Given the description of an element on the screen output the (x, y) to click on. 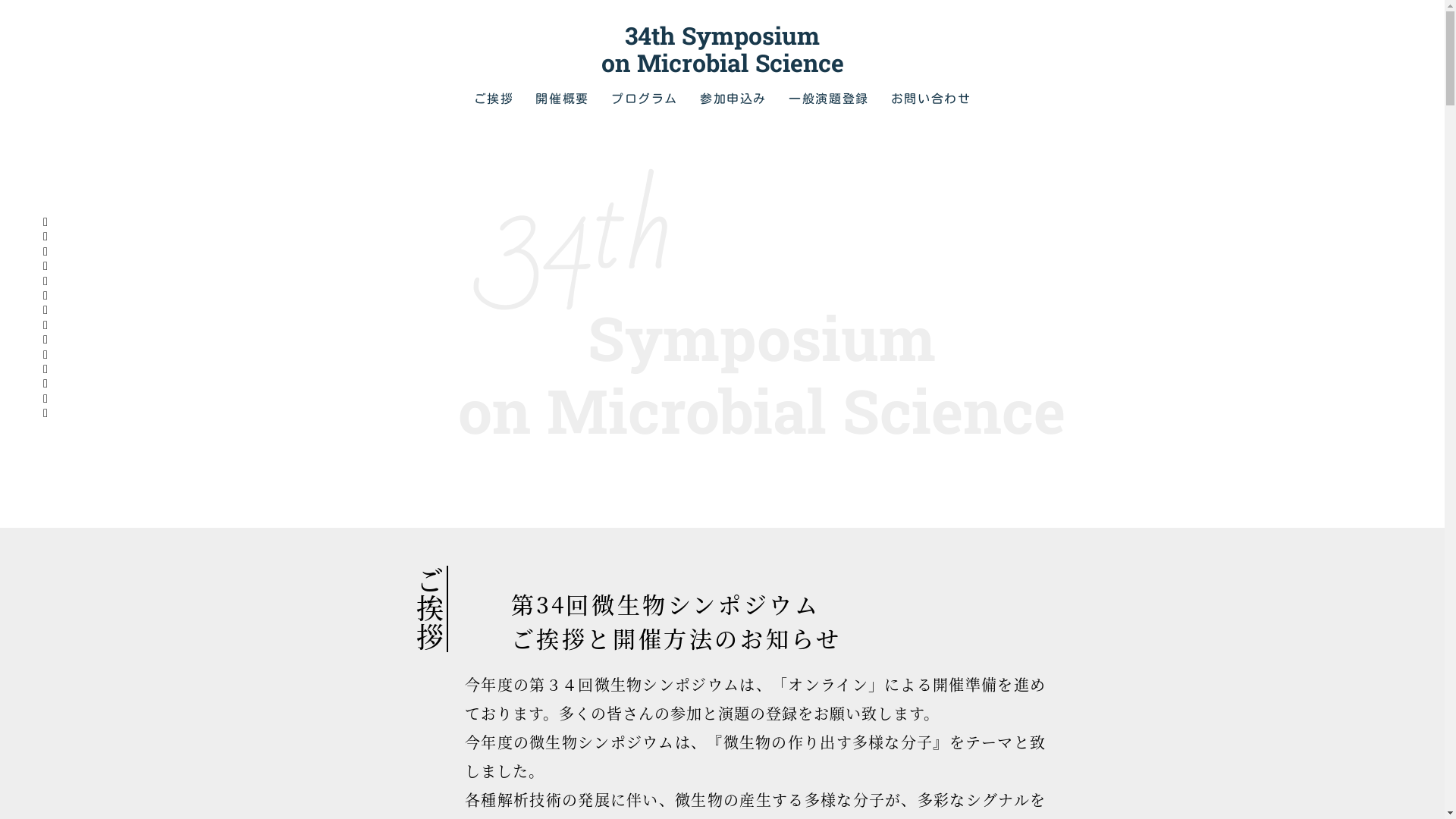
34th Symposium
on Microbial Science Element type: text (721, 48)
